Given the description of an element on the screen output the (x, y) to click on. 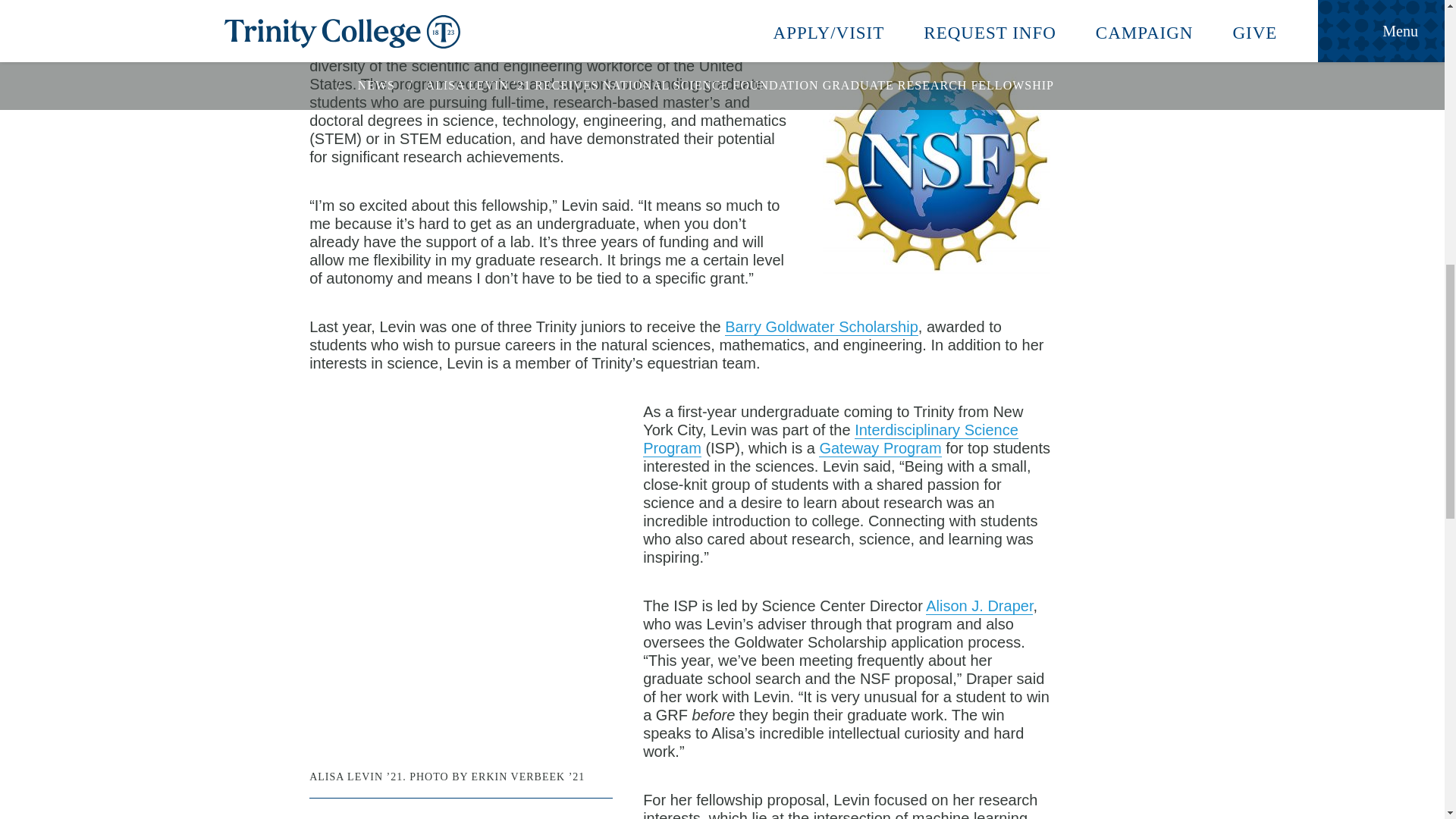
Gateway Program (879, 448)
Barry Goldwater Scholarship (821, 326)
Interdisciplinary Science Program (830, 439)
Alison J. Draper (979, 606)
